Given the description of an element on the screen output the (x, y) to click on. 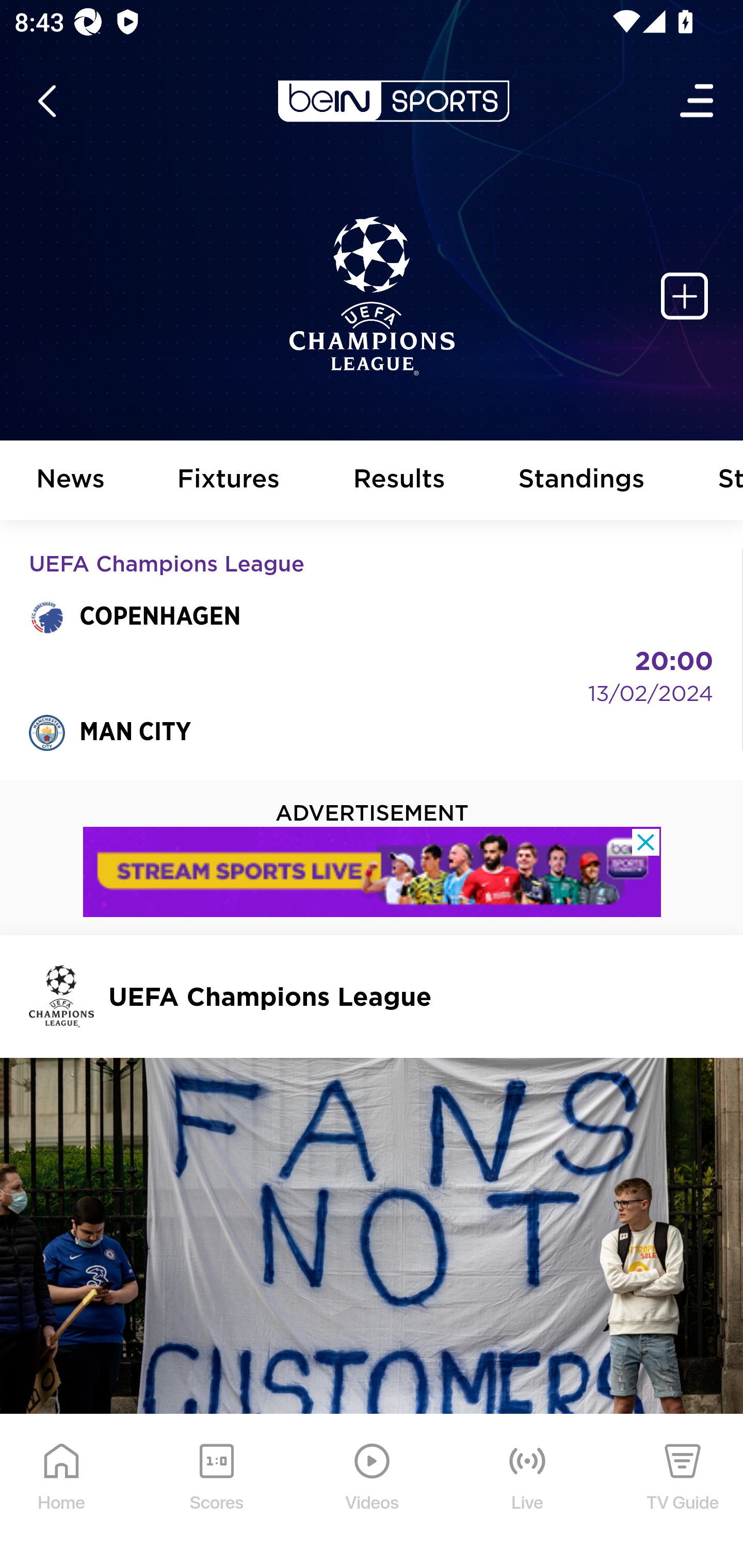
en-my?platform=mobile_android bein logo white (392, 101)
icon back (46, 101)
Open Menu Icon (697, 101)
News (70, 480)
Fixtures (229, 480)
Results (399, 480)
Standings (581, 480)
l8psv8uu (372, 872)
Home Home Icon Home (61, 1491)
Scores Scores Icon Scores (216, 1491)
Videos Videos Icon Videos (372, 1491)
TV Guide TV Guide Icon TV Guide (682, 1491)
